Given the description of an element on the screen output the (x, y) to click on. 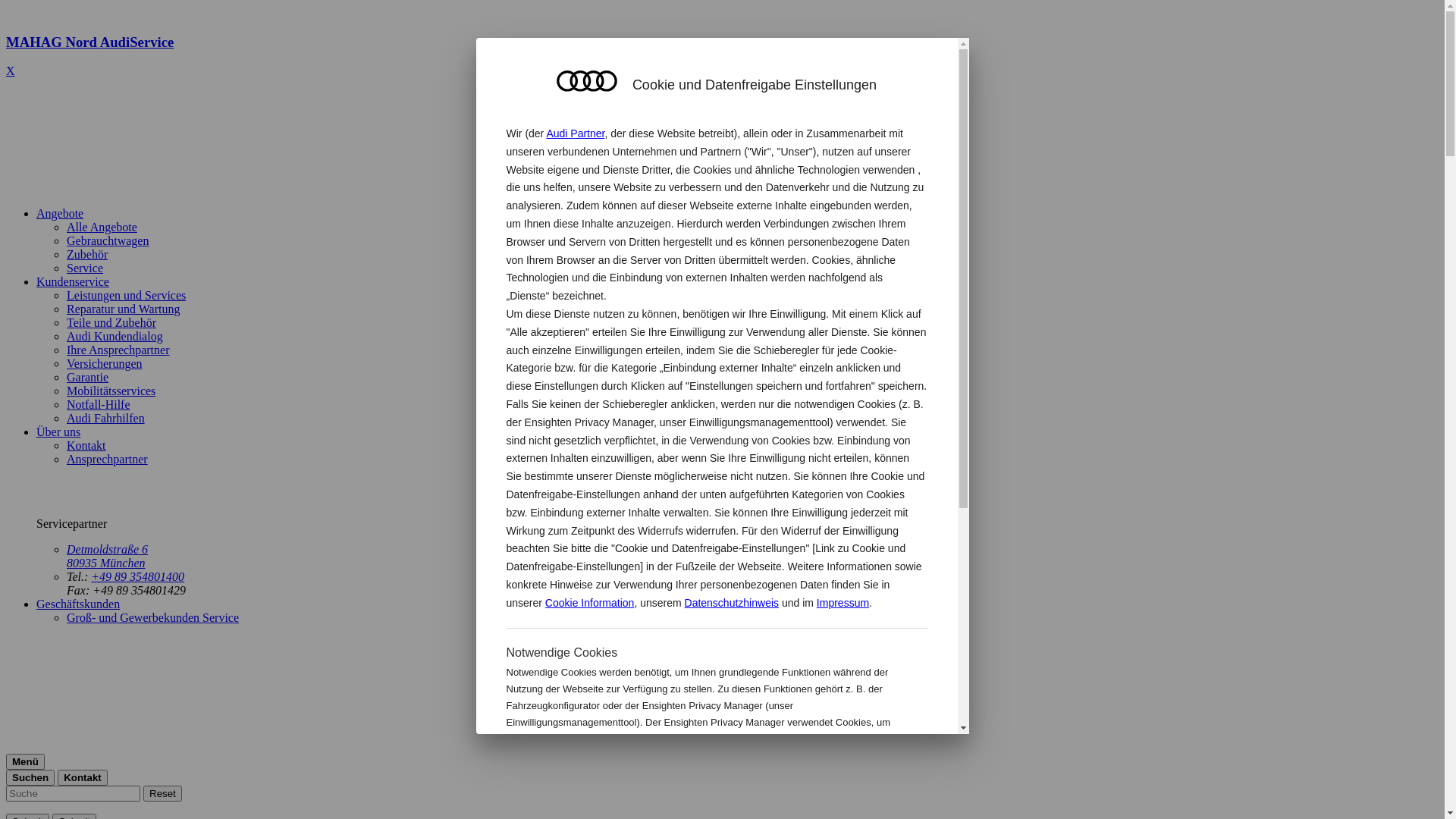
Kundenservice Element type: text (72, 281)
Datenschutzhinweis Element type: text (731, 602)
Gebrauchtwagen Element type: text (107, 240)
Alle Angebote Element type: text (101, 226)
Ansprechpartner Element type: text (106, 458)
Leistungen und Services Element type: text (125, 294)
Kontakt Element type: text (82, 777)
Reparatur und Wartung Element type: text (122, 308)
Ihre Ansprechpartner Element type: text (117, 349)
Service Element type: text (84, 267)
Cookie Information Element type: text (589, 602)
Audi Partner Element type: text (575, 133)
Angebote Element type: text (59, 213)
X Element type: text (10, 70)
Notfall-Hilfe Element type: text (98, 404)
Kontakt Element type: text (86, 445)
Audi Kundendialog Element type: text (114, 335)
Cookie Information Element type: text (847, 772)
+49 89 354801400 Element type: text (137, 576)
Audi Fahrhilfen Element type: text (105, 417)
MAHAG Nord AudiService Element type: text (722, 56)
Versicherungen Element type: text (104, 363)
Suchen Element type: text (30, 777)
Impressum Element type: text (842, 602)
Garantie Element type: text (87, 376)
